Given the description of an element on the screen output the (x, y) to click on. 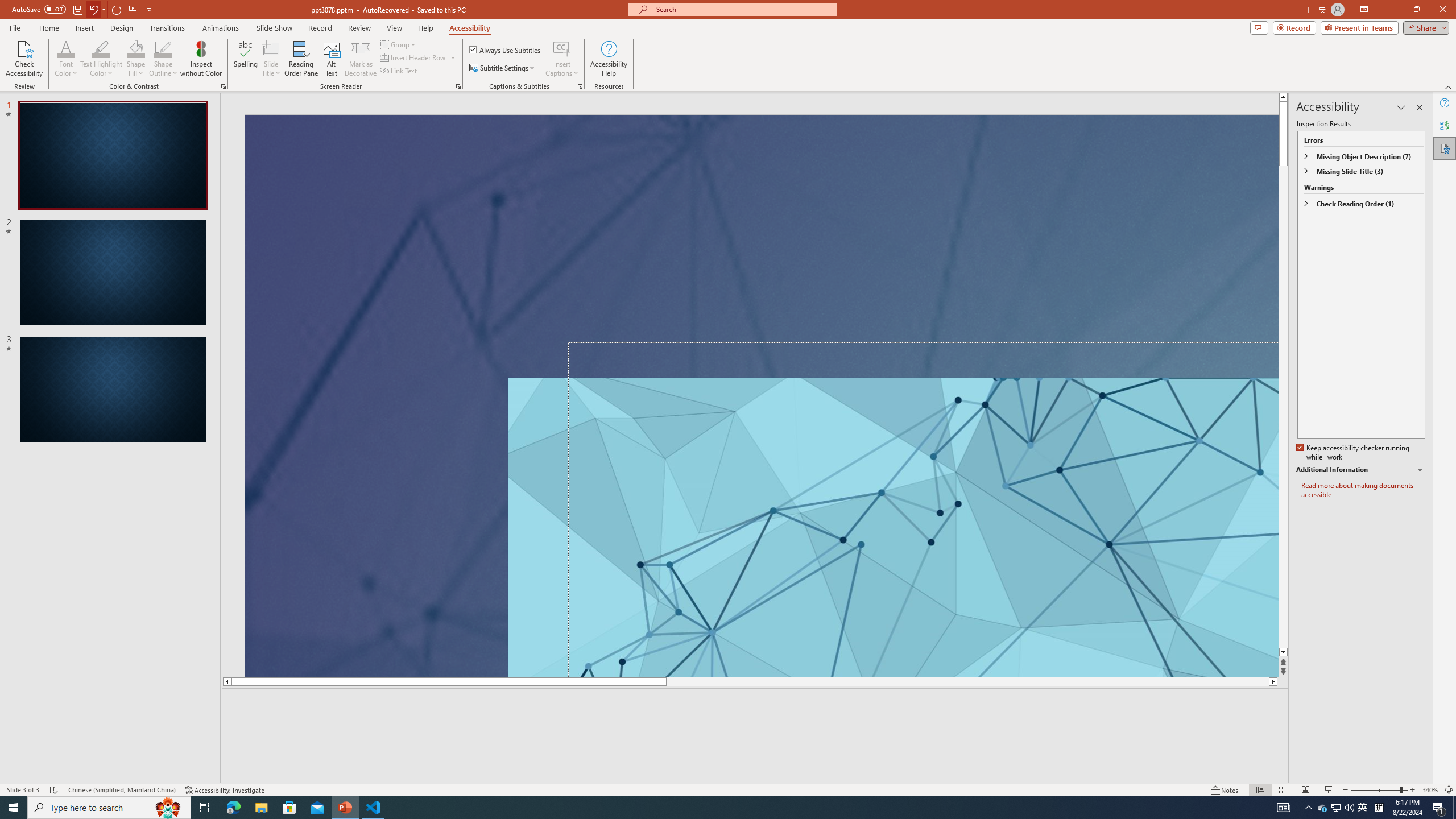
Insert Header Row (418, 56)
Alt Text (331, 58)
Keep accessibility checker running while I work (1353, 452)
